Given the description of an element on the screen output the (x, y) to click on. 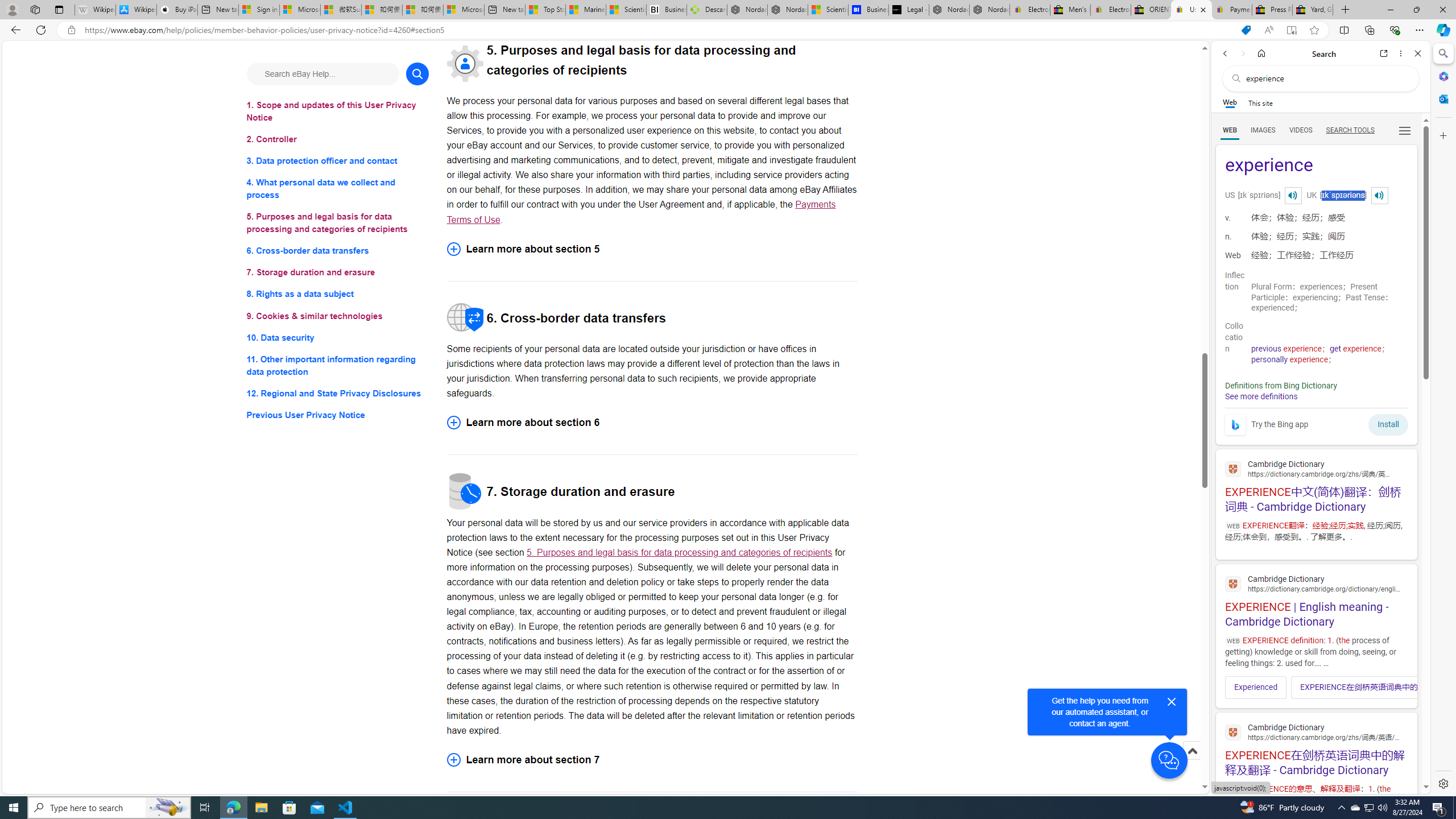
Try the Bing app Install (1315, 421)
Marine life - MSN (585, 9)
Cambridge Dictionary (1315, 731)
See more definitions (1260, 396)
3. Data protection officer and contact (337, 160)
